Given the description of an element on the screen output the (x, y) to click on. 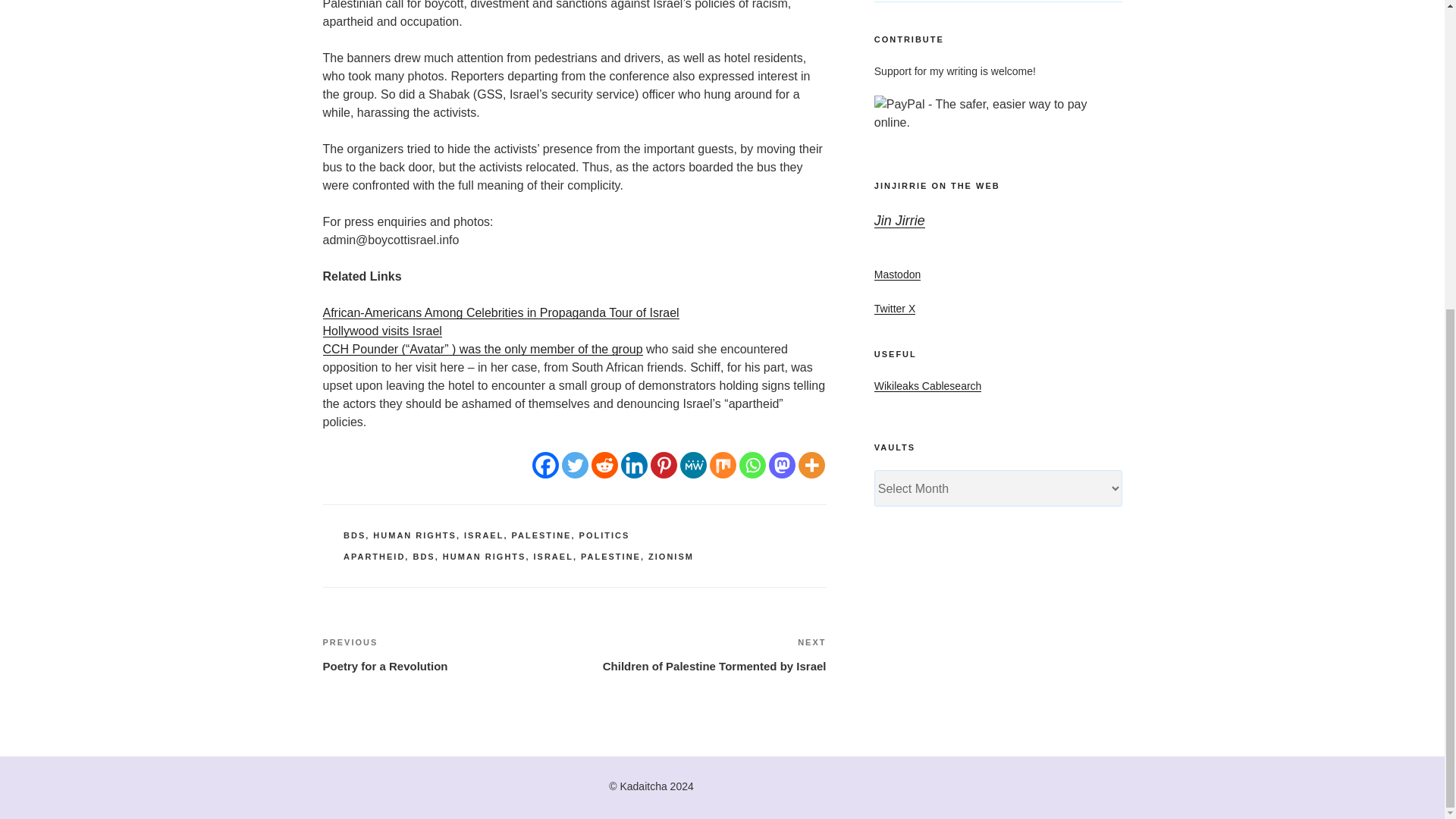
Whatsapp (752, 465)
Twitter (575, 465)
Reddit (604, 465)
Pinterest (663, 465)
MeWe (692, 465)
Mix (723, 465)
More (811, 465)
Mastodon (781, 465)
Facebook (545, 465)
Linkedin (634, 465)
